Given the description of an element on the screen output the (x, y) to click on. 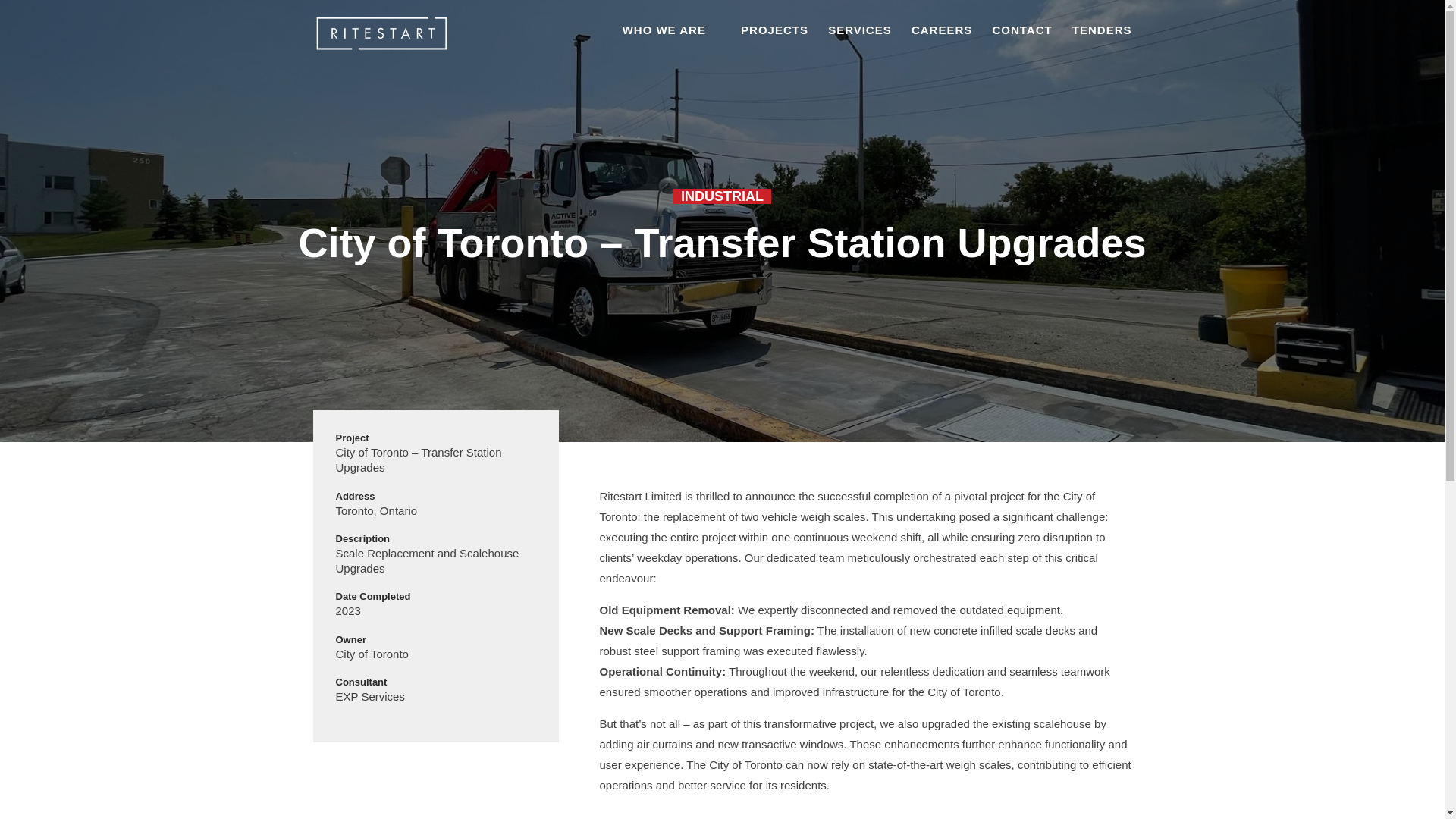
CONTACT (1021, 45)
PROJECTS (774, 45)
WHO WE ARE (671, 42)
SERVICES (859, 45)
CAREERS (941, 45)
TENDERS (1101, 45)
